Given the description of an element on the screen output the (x, y) to click on. 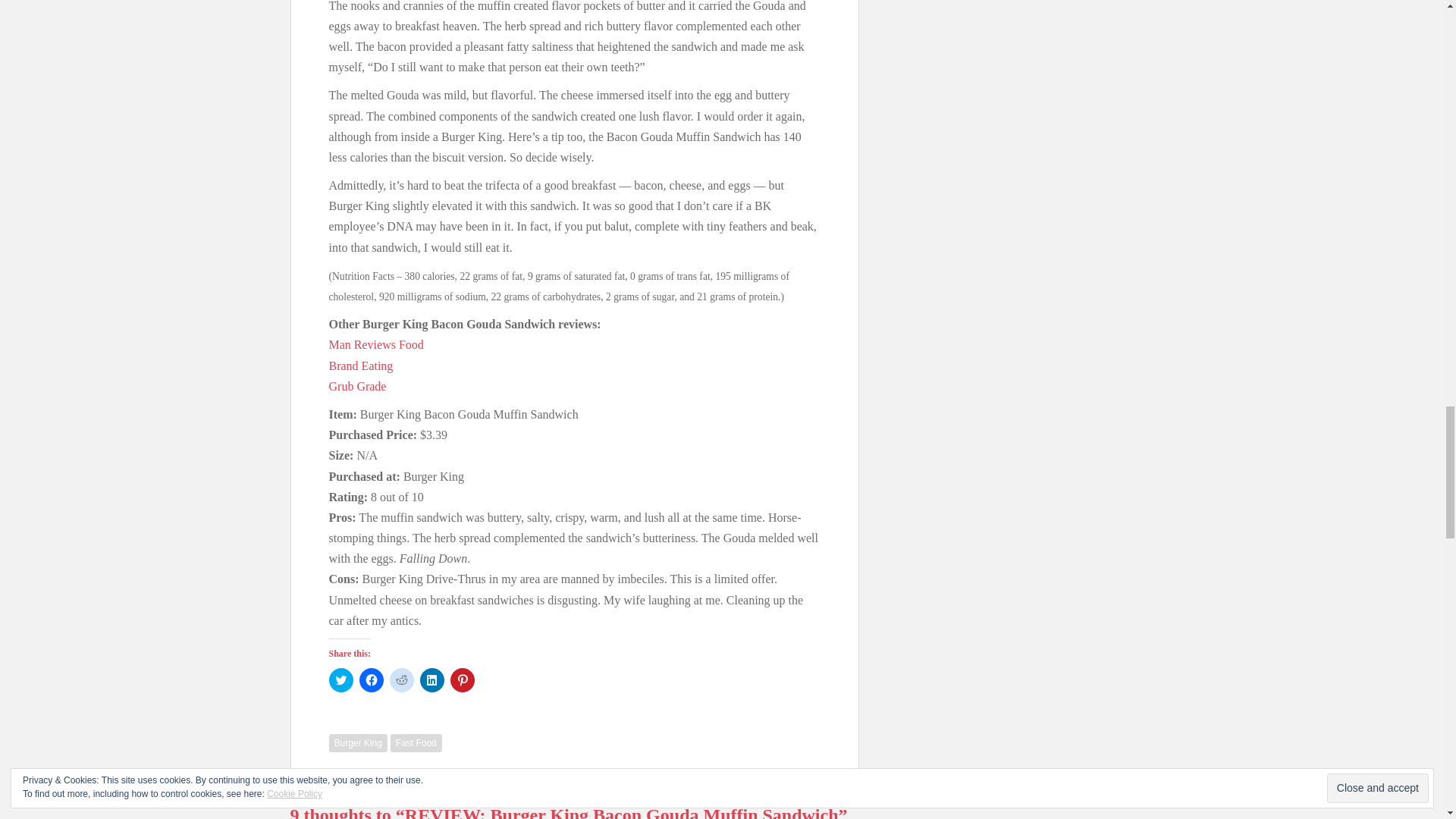
Click to share on Pinterest (461, 680)
Click to share on Reddit (401, 680)
Click to share on LinkedIn (432, 680)
Brand Eating (361, 365)
Man Reviews Food (376, 344)
Burger King (358, 742)
Click to share on Facebook (371, 680)
Click to share on Twitter (341, 680)
Fast Food (416, 742)
Grub Grade (358, 386)
